Given the description of an element on the screen output the (x, y) to click on. 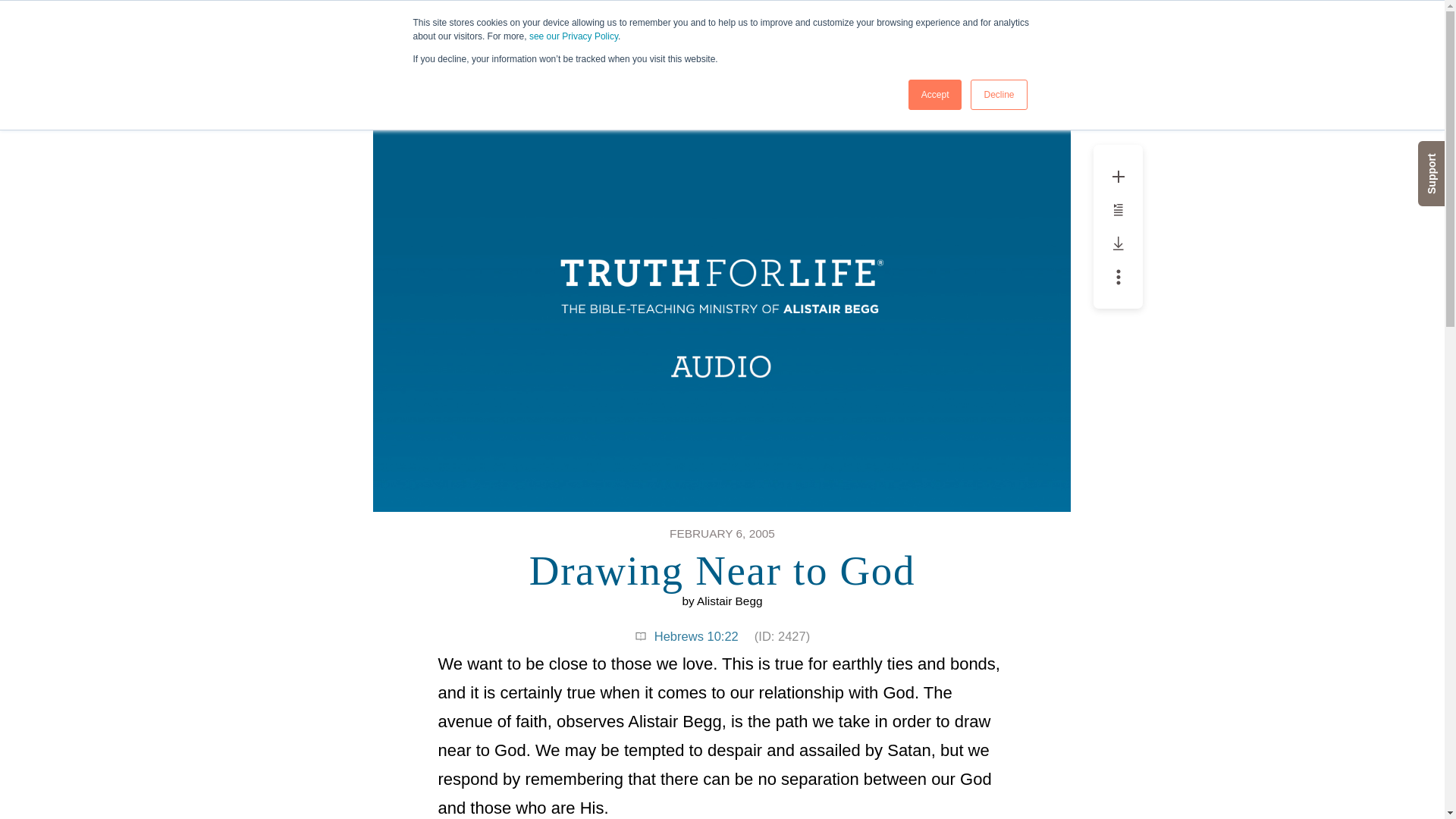
see our Privacy Policy (573, 36)
Add to My Library (1117, 176)
cart (1090, 18)
Add to My Library (1118, 176)
About (1152, 18)
Accept (1039, 18)
Listen Queue (935, 94)
More Options (1118, 209)
Contact (1118, 276)
Download Free (983, 18)
Decline (1118, 243)
Events (998, 94)
Add to Listen Queue (929, 18)
TFL Finder (1117, 209)
